Given the description of an element on the screen output the (x, y) to click on. 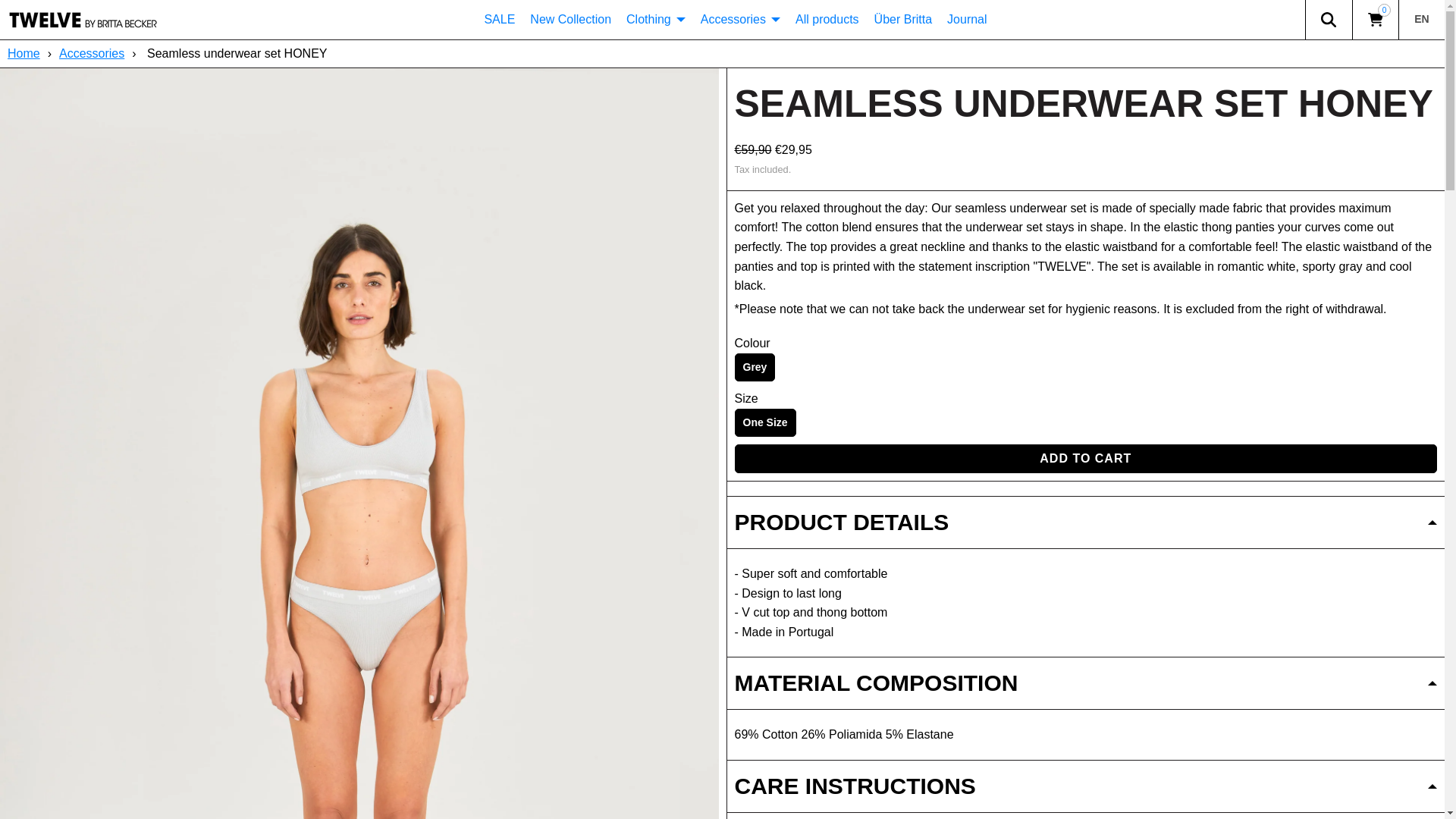
SALE (499, 19)
New Collection (570, 19)
Home (25, 53)
